Given the description of an element on the screen output the (x, y) to click on. 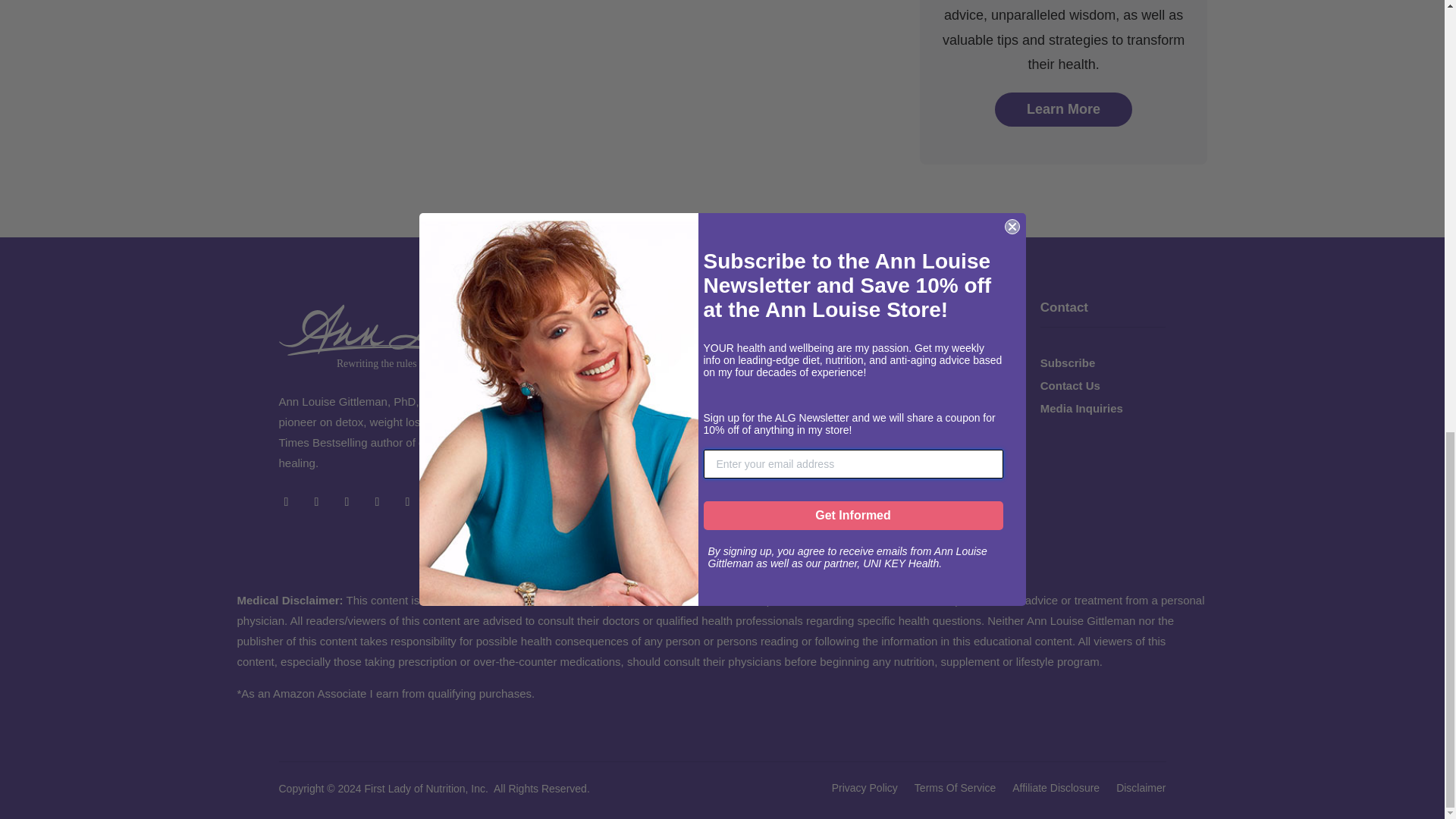
Follow on X (316, 500)
Follow on Pinterest (408, 500)
Follow on Facebook (286, 500)
Follow on Youtube (377, 500)
Follow on Instagram (346, 500)
